Given the description of an element on the screen output the (x, y) to click on. 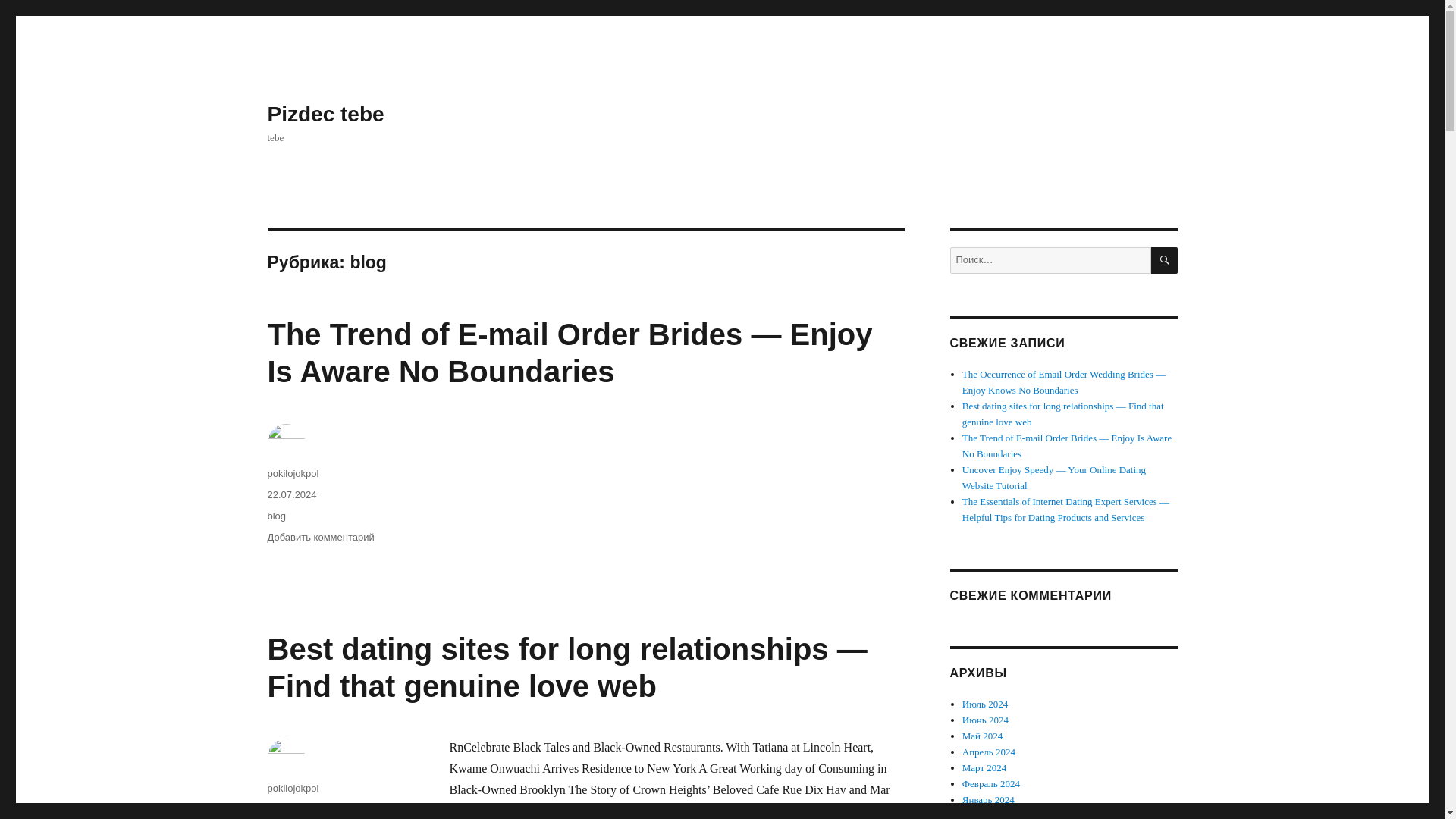
pokilojokpol (292, 787)
22.07.2024 (290, 494)
pokilojokpol (292, 473)
Pizdec tebe (325, 114)
22.07.2024 (290, 808)
blog (275, 515)
